Given the description of an element on the screen output the (x, y) to click on. 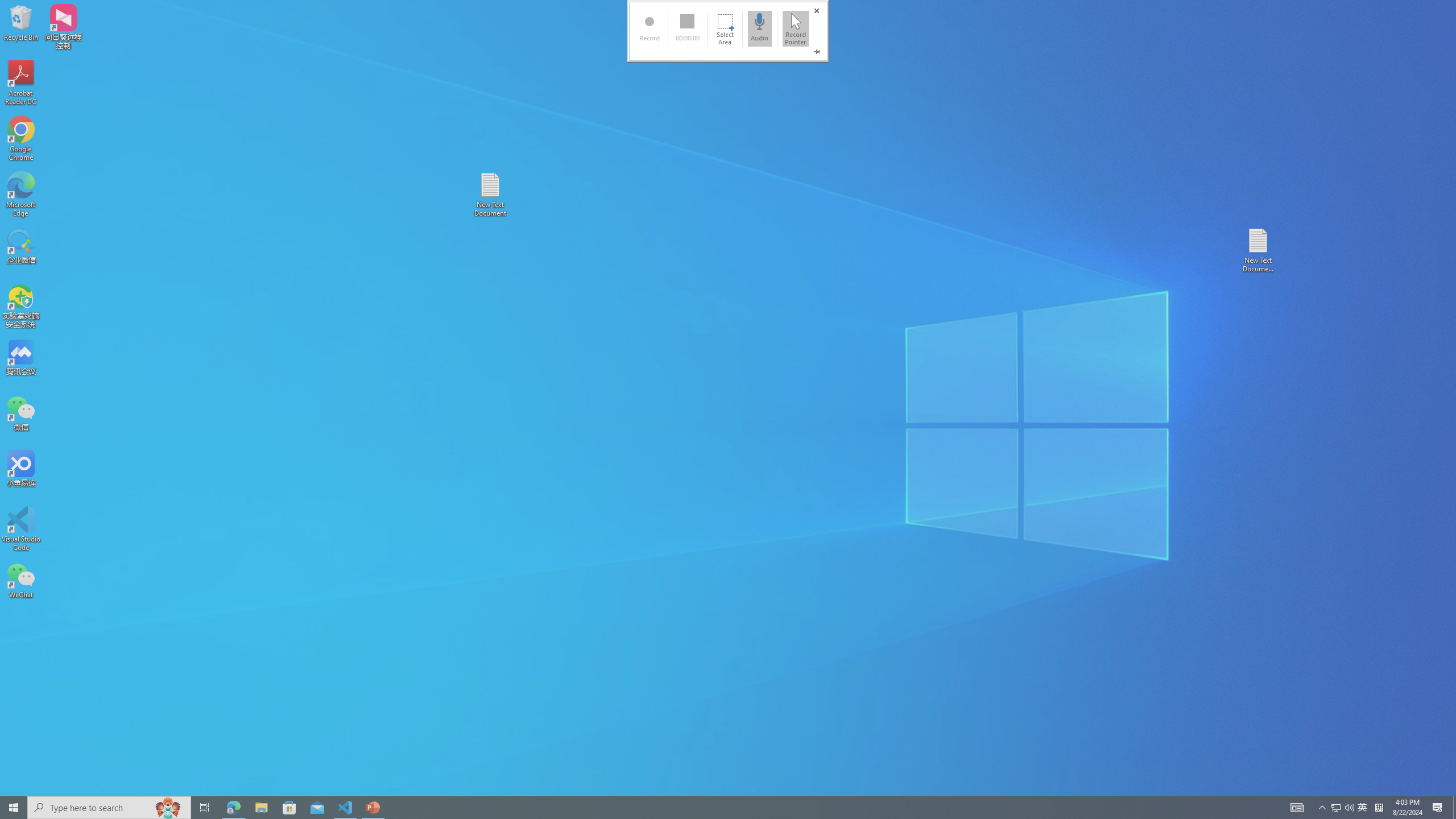
Select Area (724, 28)
Close (Windows logo key+Shift+Q) (816, 11)
MiniBar (727, 31)
00:00:00 (686, 28)
Pin the Dock (Windows logo key+Shift+I) (816, 51)
Record Pointer (795, 28)
